Given the description of an element on the screen output the (x, y) to click on. 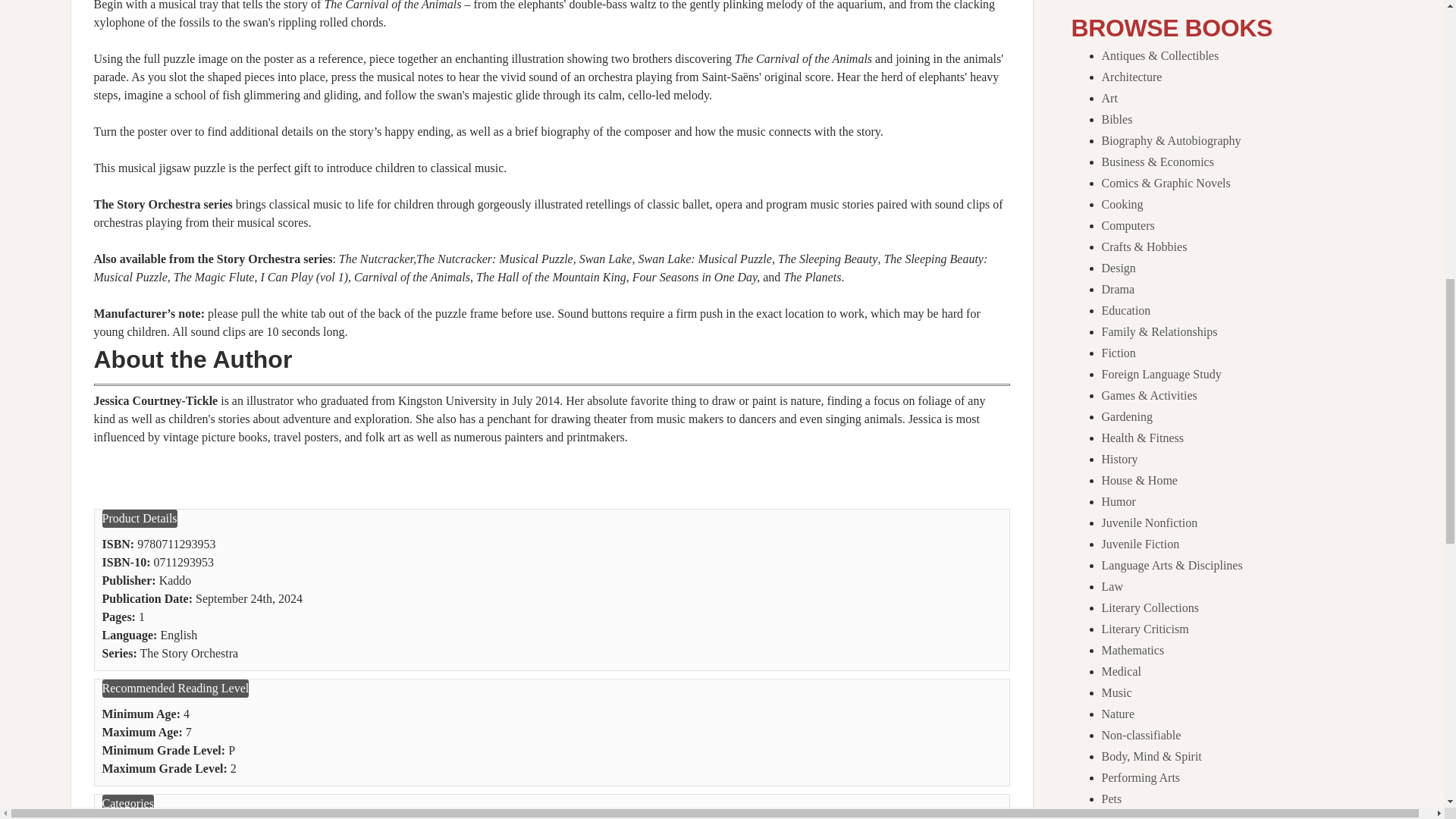
Art (1108, 97)
Bibles (1116, 119)
Cooking (1121, 204)
Architecture (1130, 76)
